Given the description of an element on the screen output the (x, y) to click on. 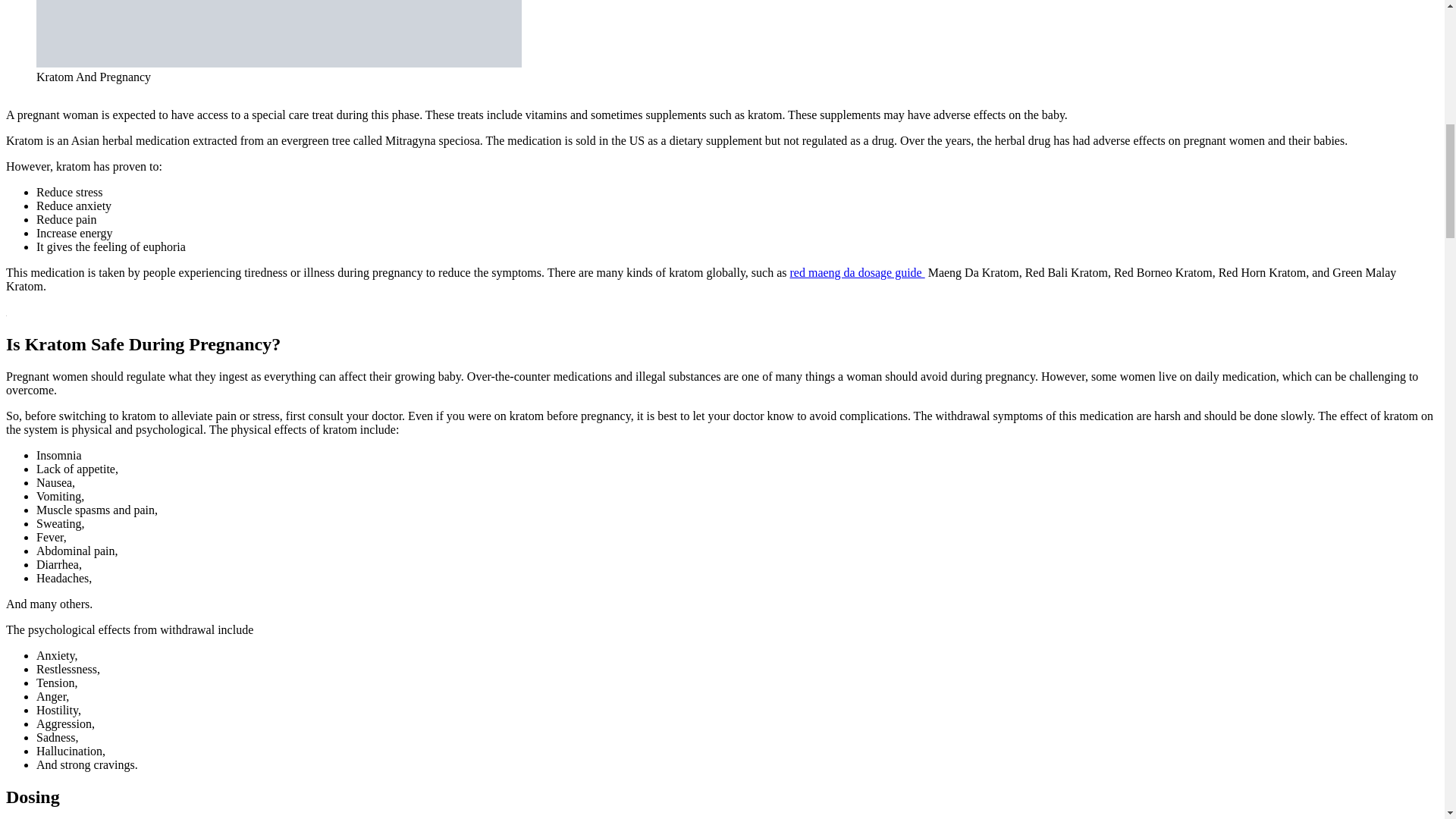
red maeng da dosage guide (857, 272)
